Given the description of an element on the screen output the (x, y) to click on. 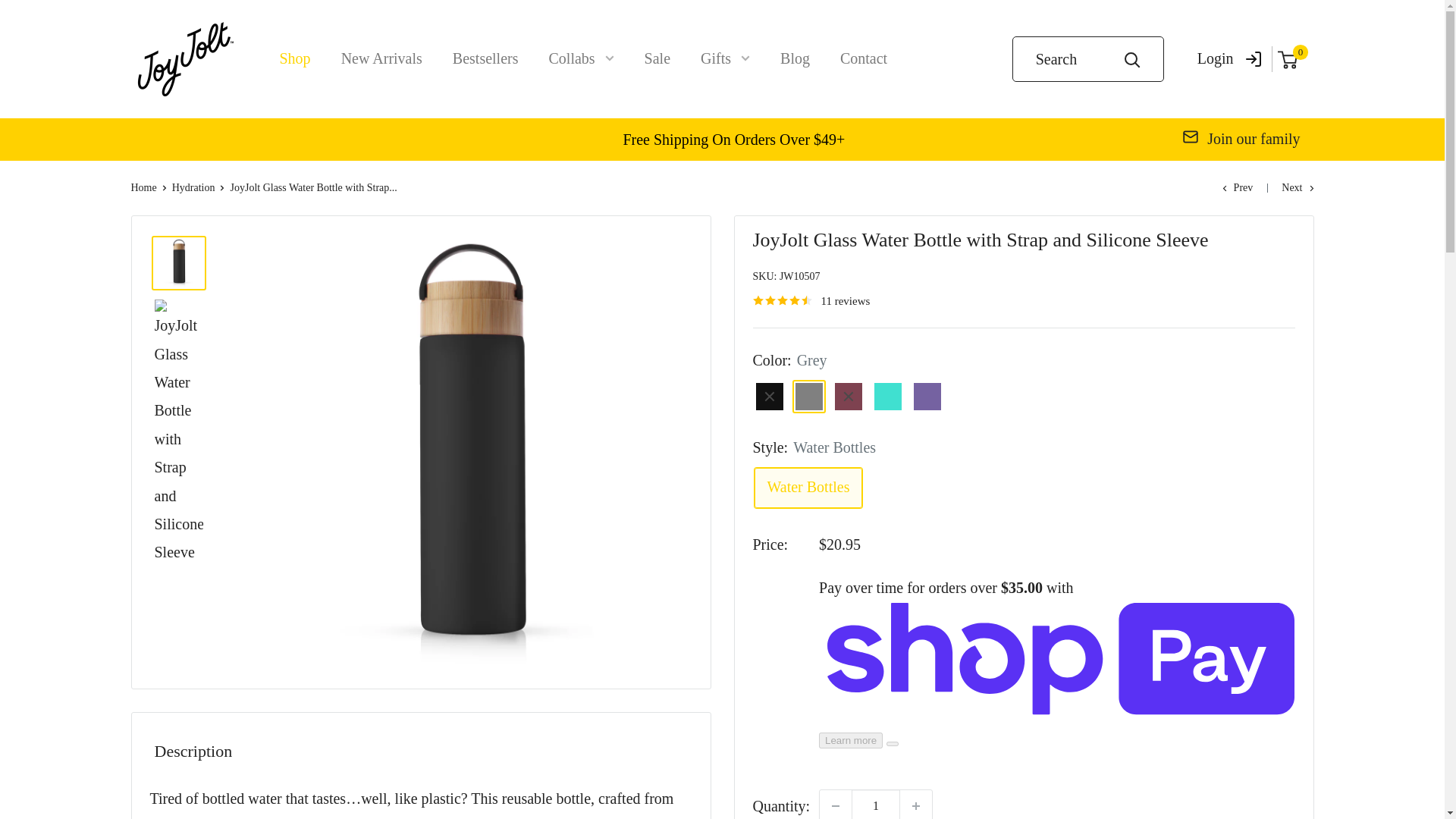
Increase quantity by 1 (915, 804)
Black (769, 396)
Bright Pink (847, 396)
1 (875, 804)
Turquoise (887, 396)
Water Bottles (807, 486)
Purple (926, 396)
Decrease quantity by 1 (835, 804)
Grey (808, 396)
